Given the description of an element on the screen output the (x, y) to click on. 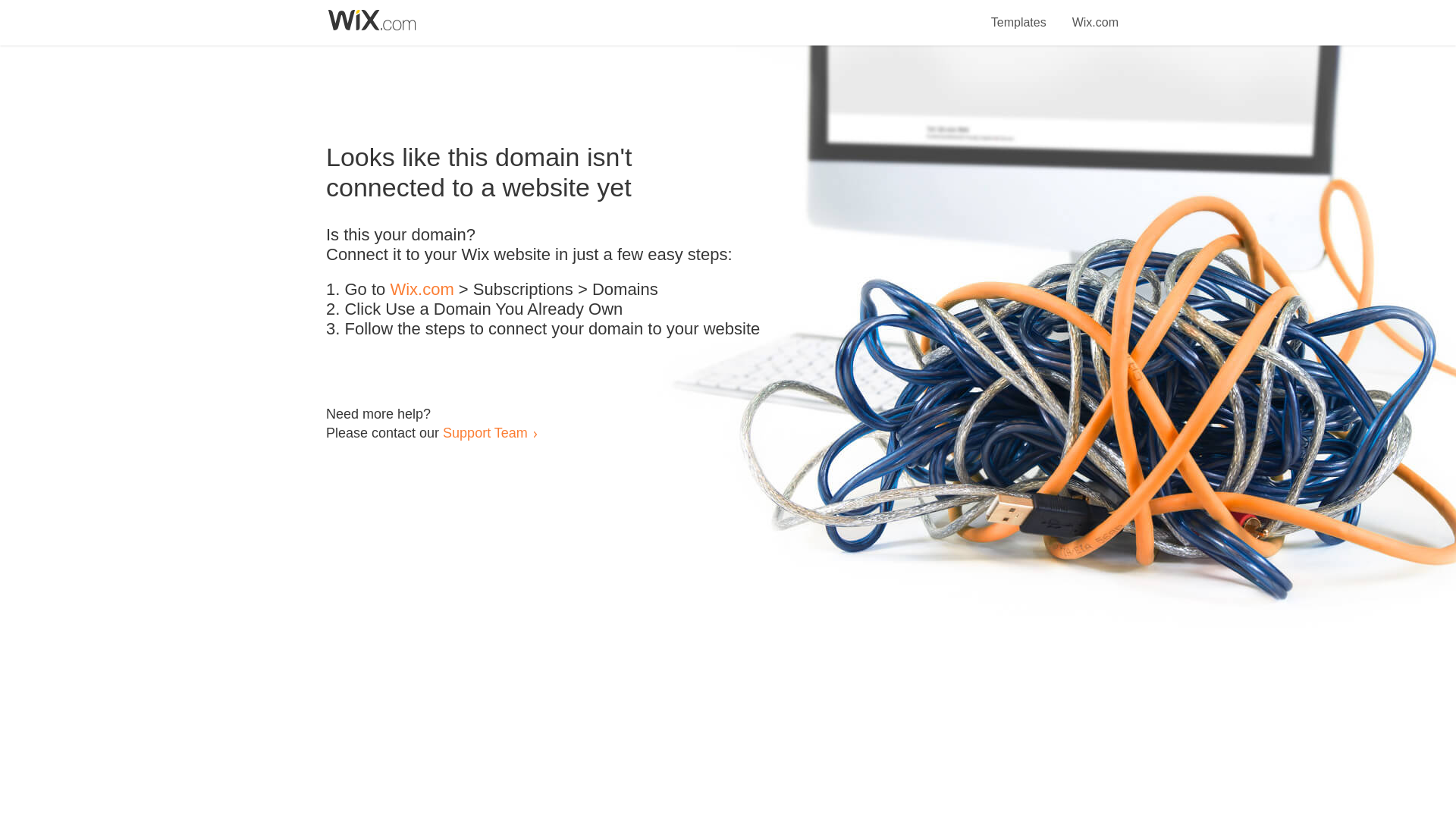
Wix.com (1095, 14)
Templates (1018, 14)
Wix.com (421, 289)
Support Team (484, 432)
